Given the description of an element on the screen output the (x, y) to click on. 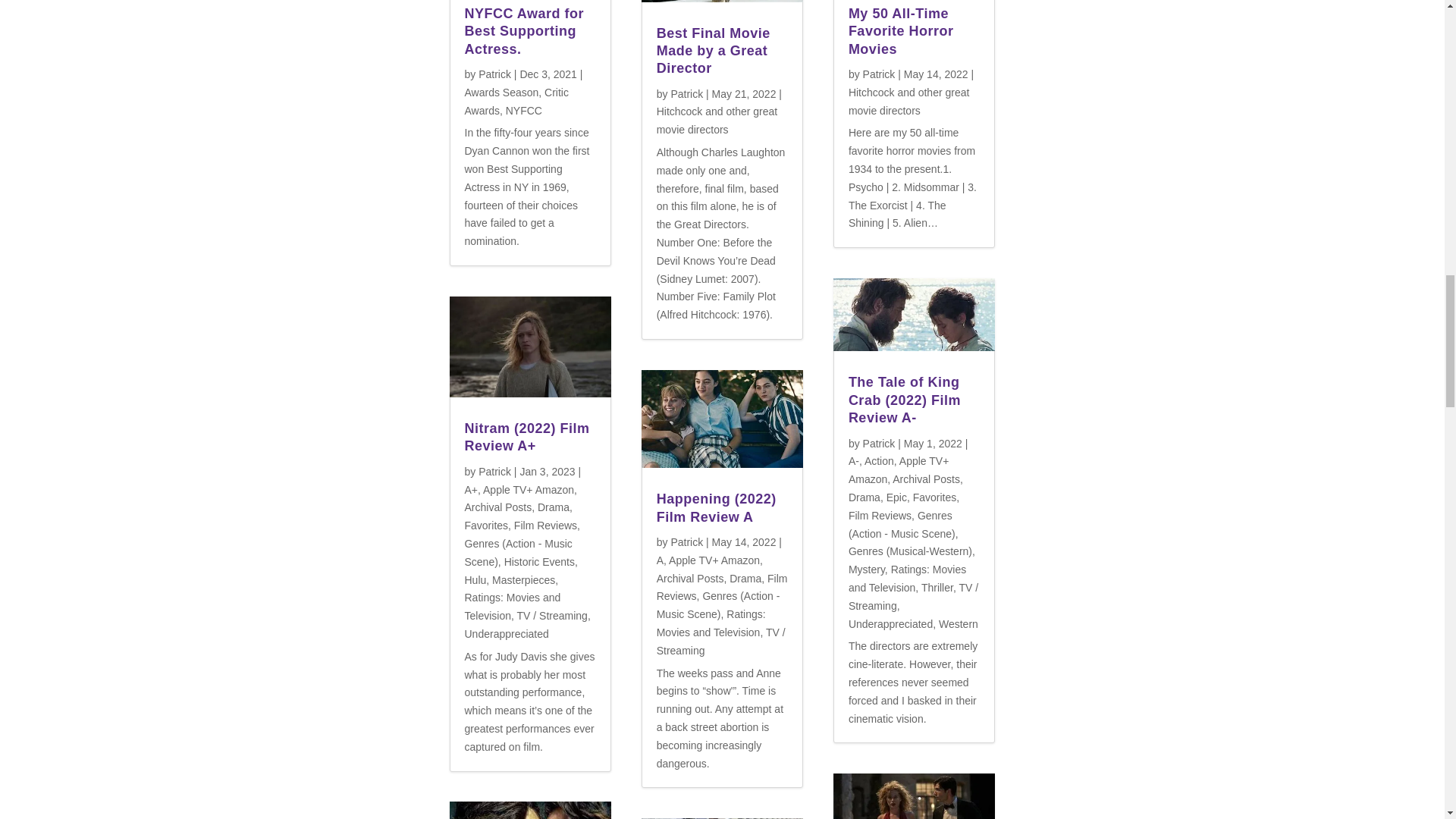
Posts by Patrick (495, 73)
Posts by Patrick (495, 471)
